Given the description of an element on the screen output the (x, y) to click on. 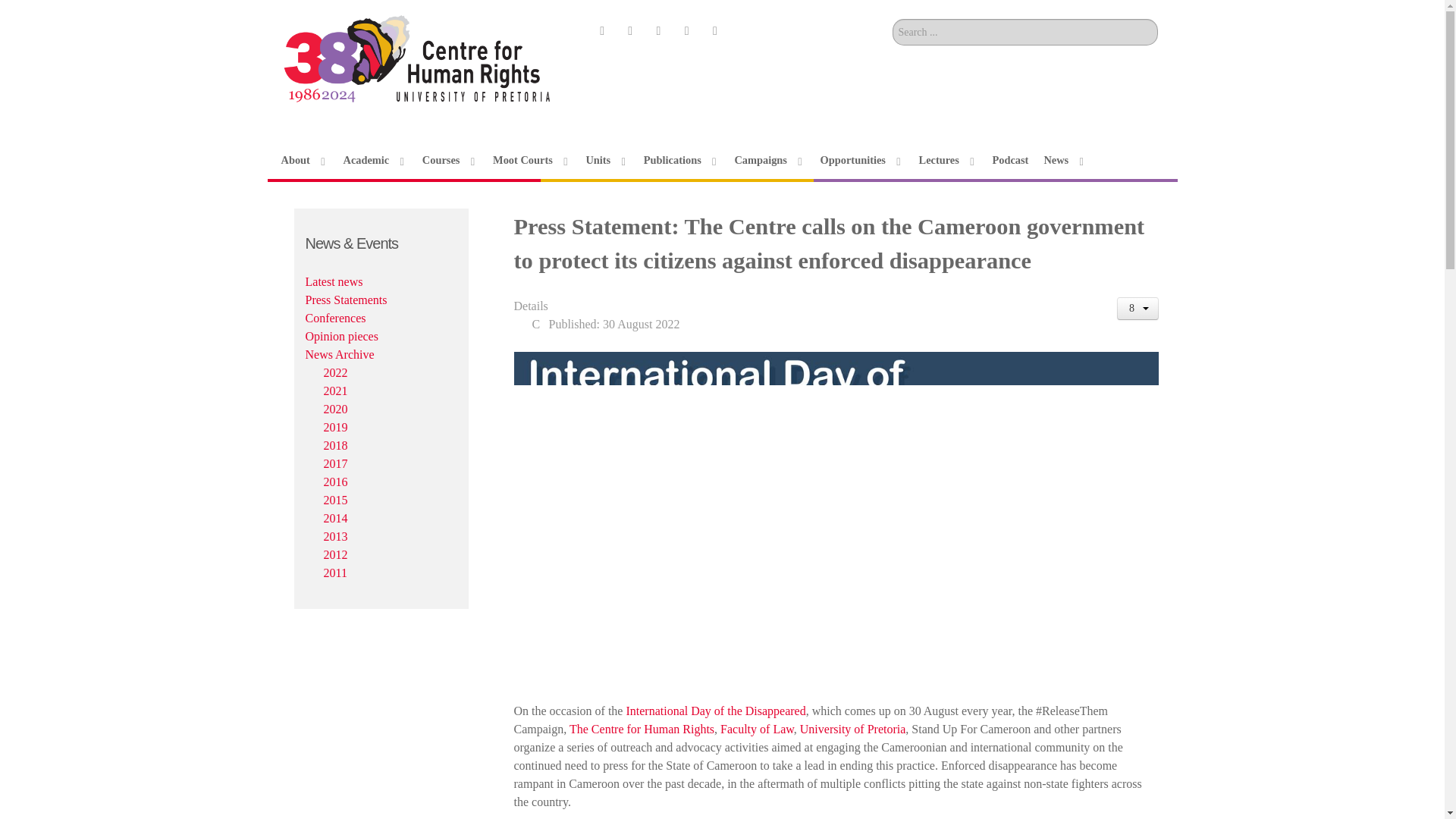
Academic (374, 160)
About (304, 160)
Courses (449, 160)
